Given the description of an element on the screen output the (x, y) to click on. 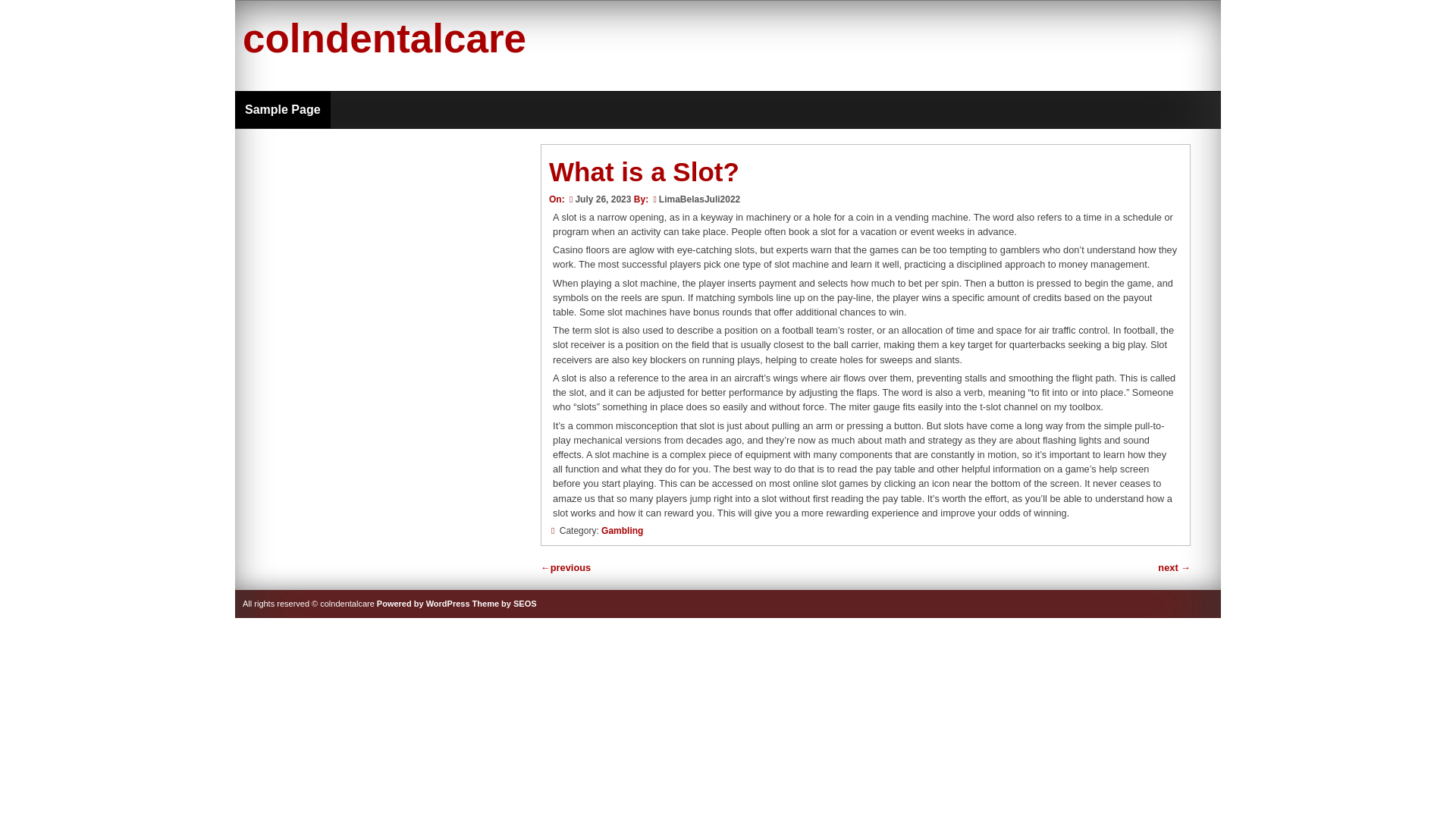
LimaBelasJuli2022 (699, 199)
Seos free wordpress themes (504, 603)
Gambling (622, 530)
Sample Page (282, 109)
colndentalcare (384, 37)
Theme by SEOS (504, 603)
Powered by WordPress (423, 603)
July 26, 2023 (598, 199)
